Given the description of an element on the screen output the (x, y) to click on. 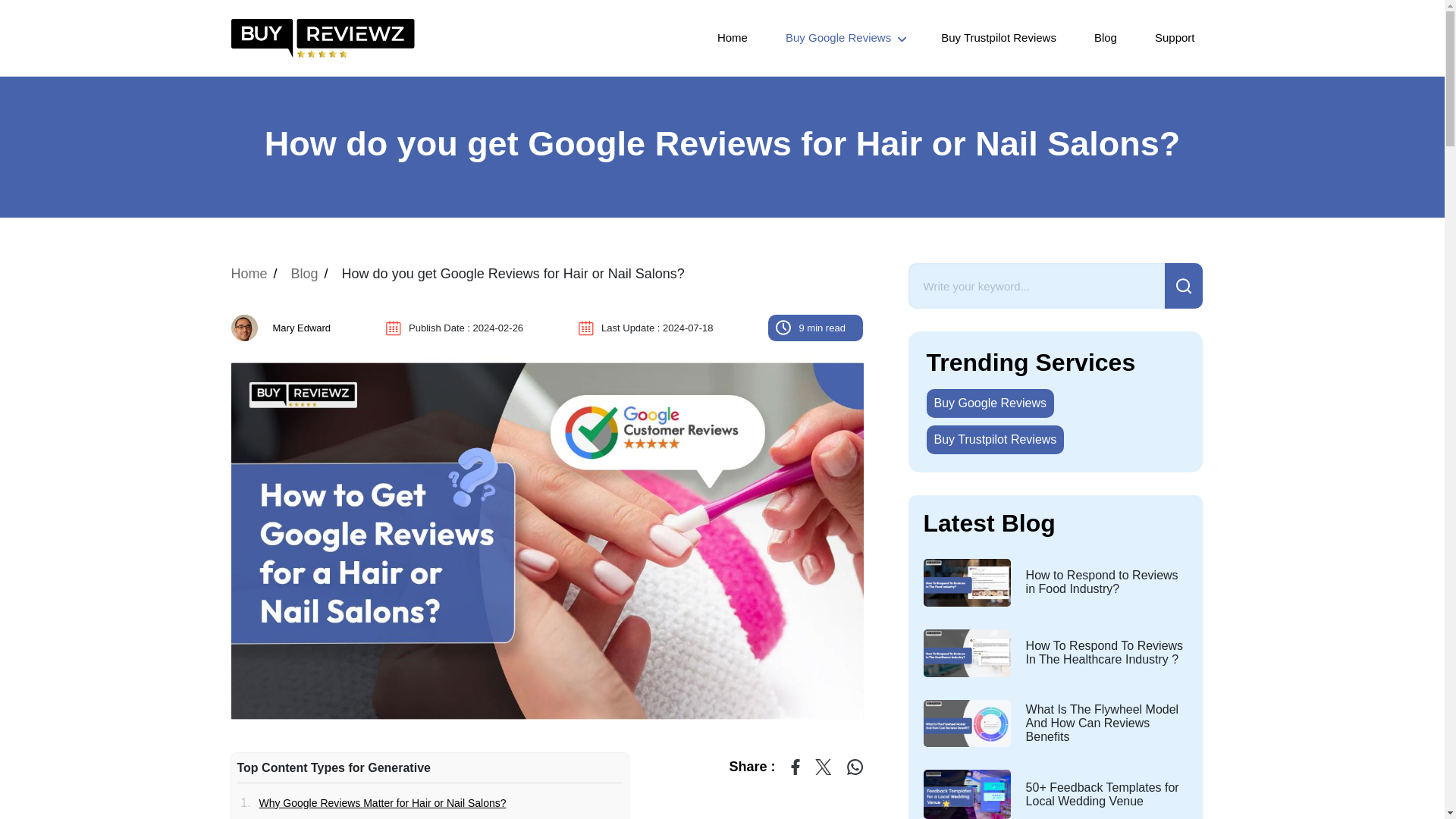
Blog (1105, 37)
Home (731, 37)
Home (248, 273)
Buy Trustpilot Reviews (998, 37)
Why Google Reviews Matter for Hair or Nail Salons? (379, 802)
Buy Google Reviews (844, 37)
Support (1174, 37)
Blog (304, 273)
